Given the description of an element on the screen output the (x, y) to click on. 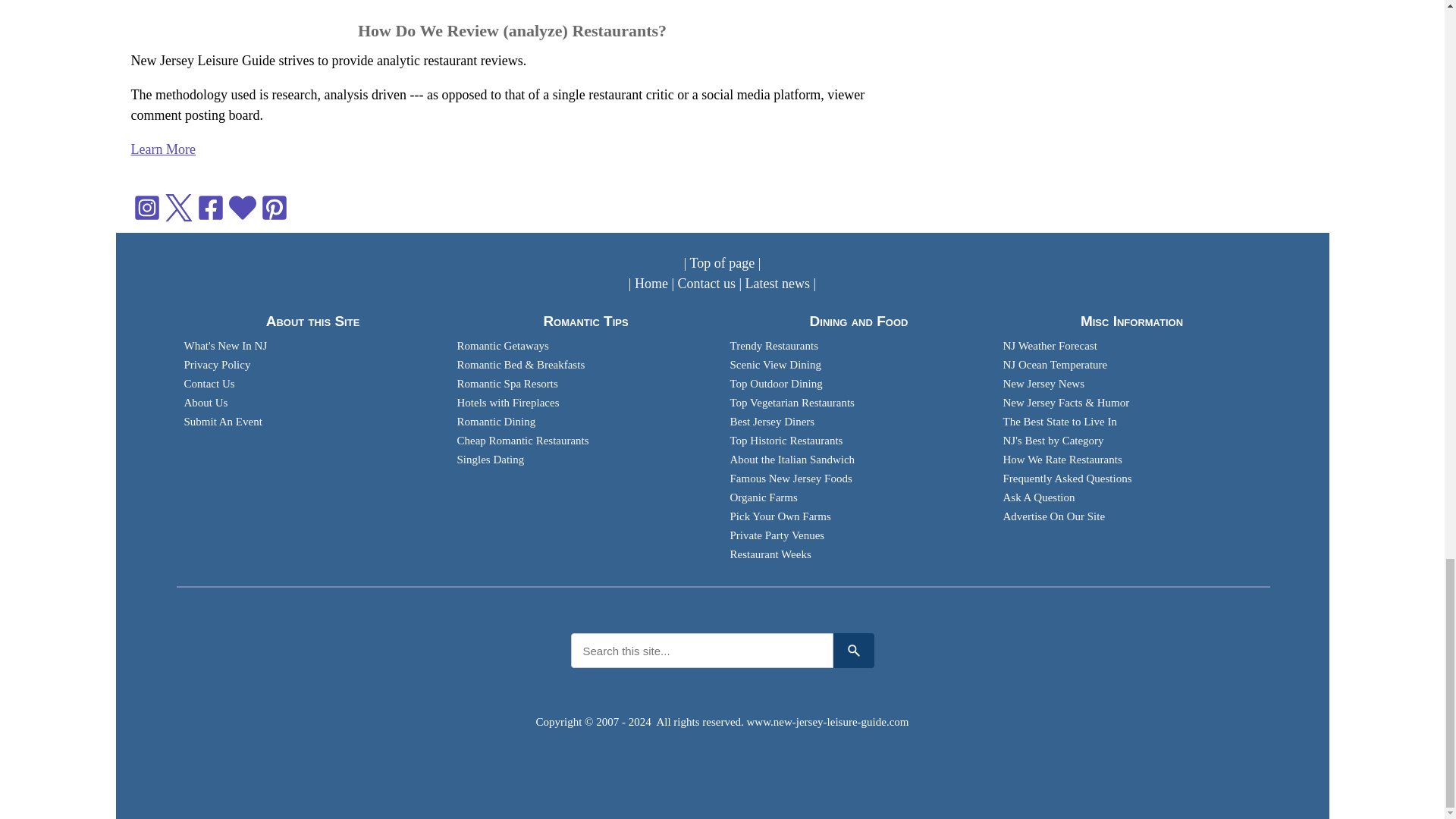
Follow us on Linkedin (241, 206)
DuckDuckGo Search (852, 650)
